Given the description of an element on the screen output the (x, y) to click on. 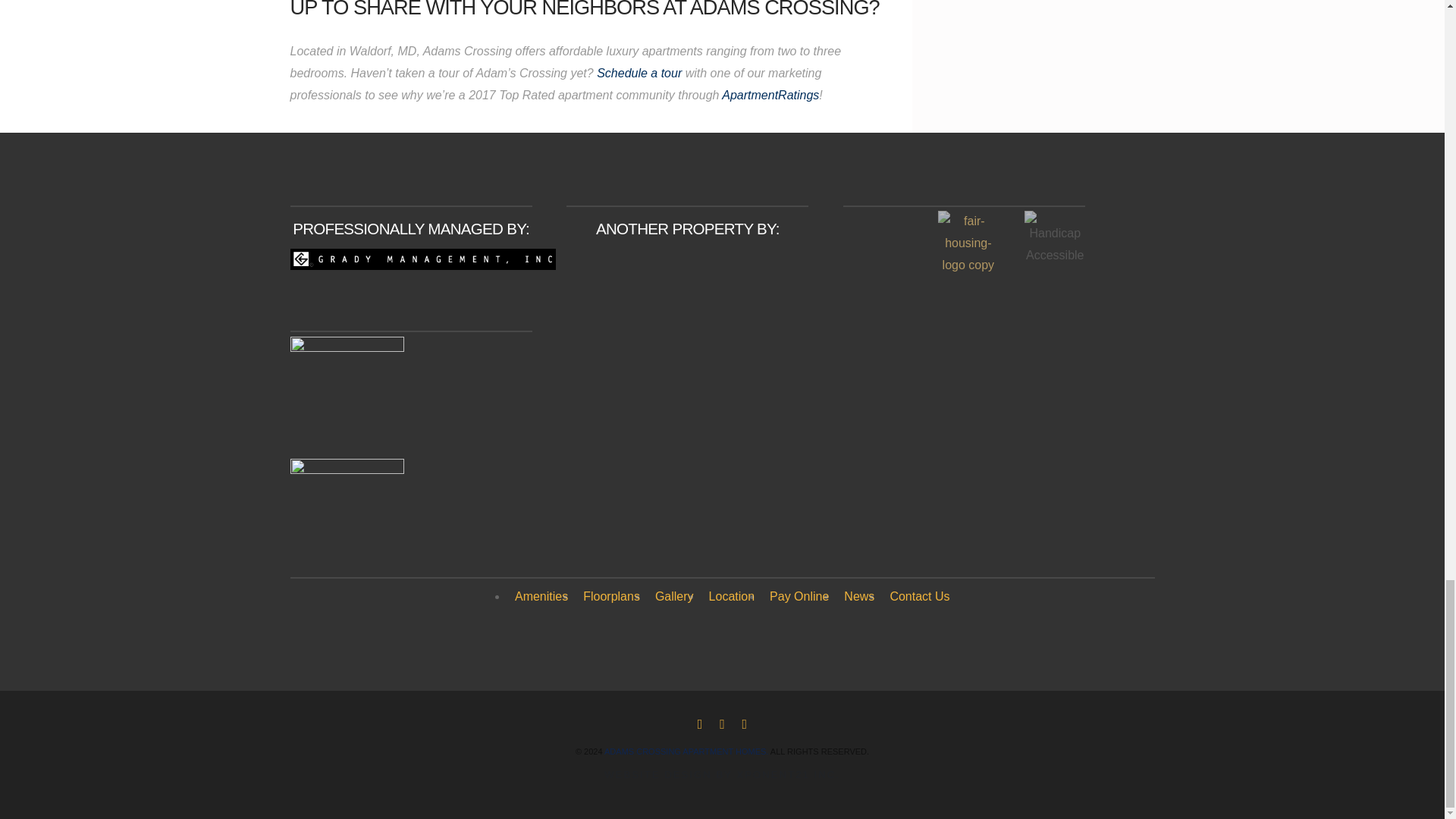
ApartmentRatings (770, 94)
Schedule a tour (640, 72)
